Given the description of an element on the screen output the (x, y) to click on. 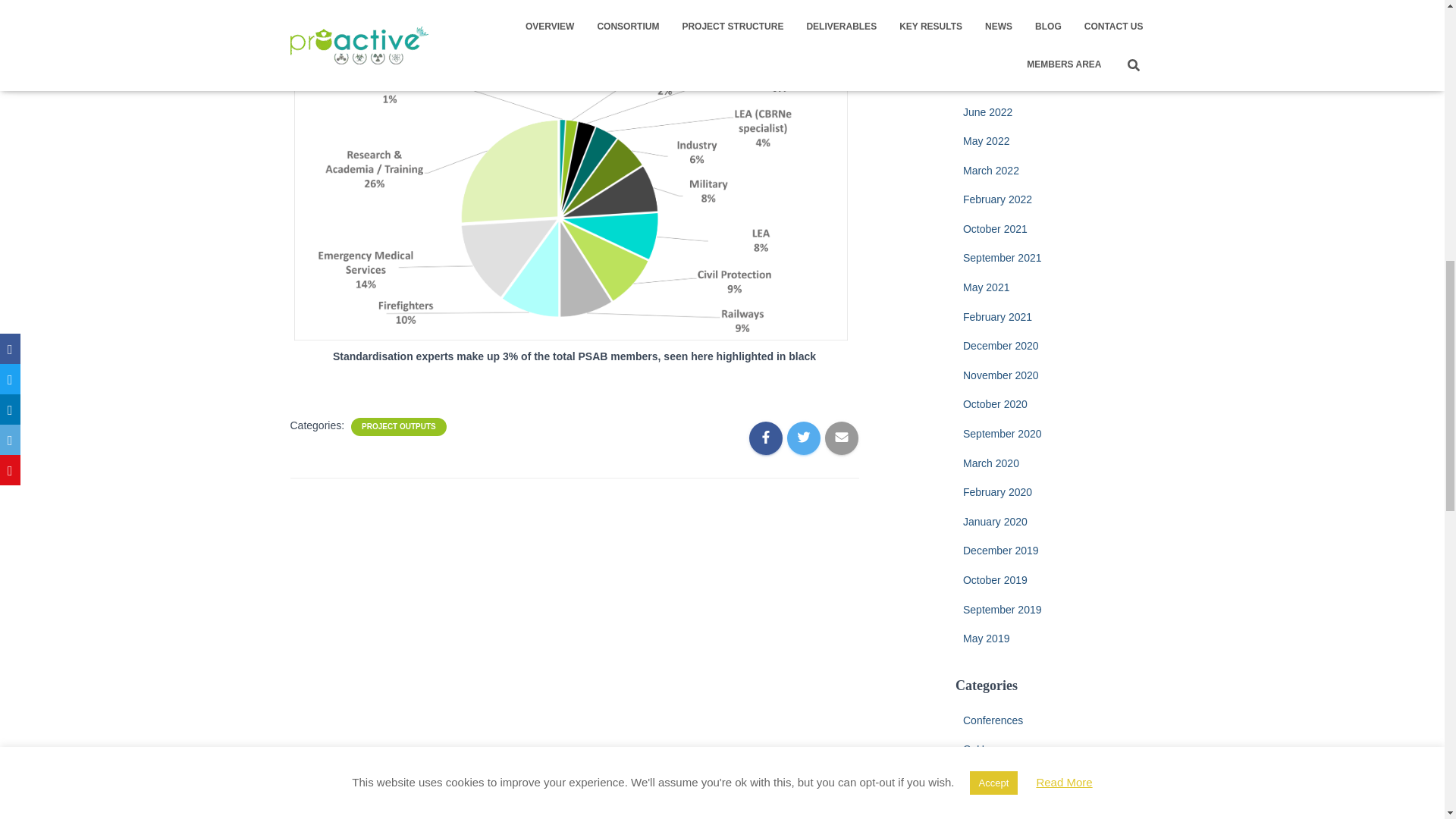
June 2022 (986, 111)
PROJECT OUTPUTS (398, 426)
February 2022 (997, 199)
December 2022 (1000, 52)
May 2022 (985, 141)
January 2023 (994, 24)
March 2023 (990, 0)
November 2022 (1000, 82)
October 2021 (994, 228)
September 2021 (1002, 257)
March 2022 (990, 170)
